Given the description of an element on the screen output the (x, y) to click on. 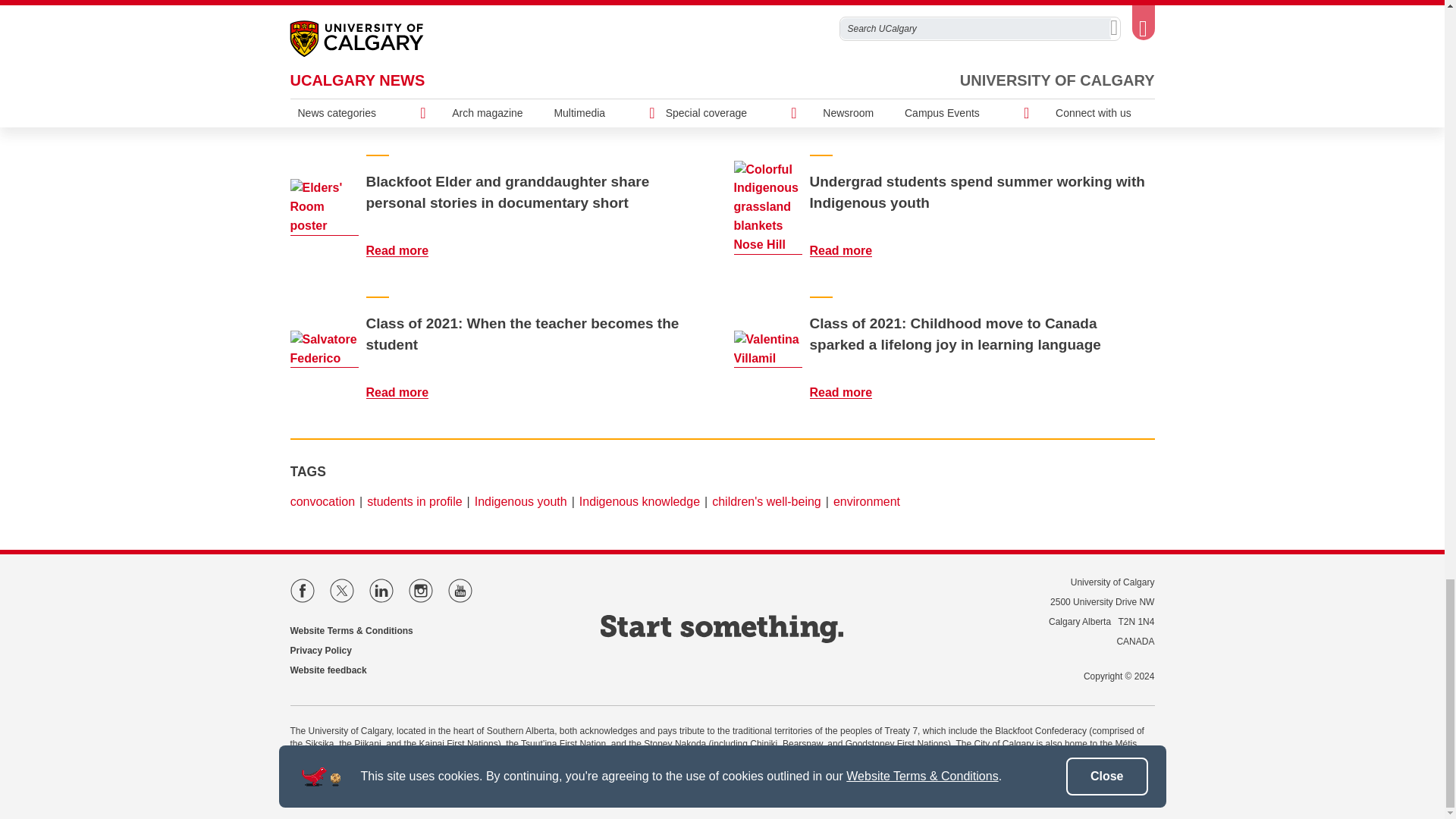
Class of 2021: When the teacher becomes the student (323, 349)
Class of 2021: When the teacher becomes the student (405, 391)
Historical images open door to sharing (850, 105)
